Given the description of an element on the screen output the (x, y) to click on. 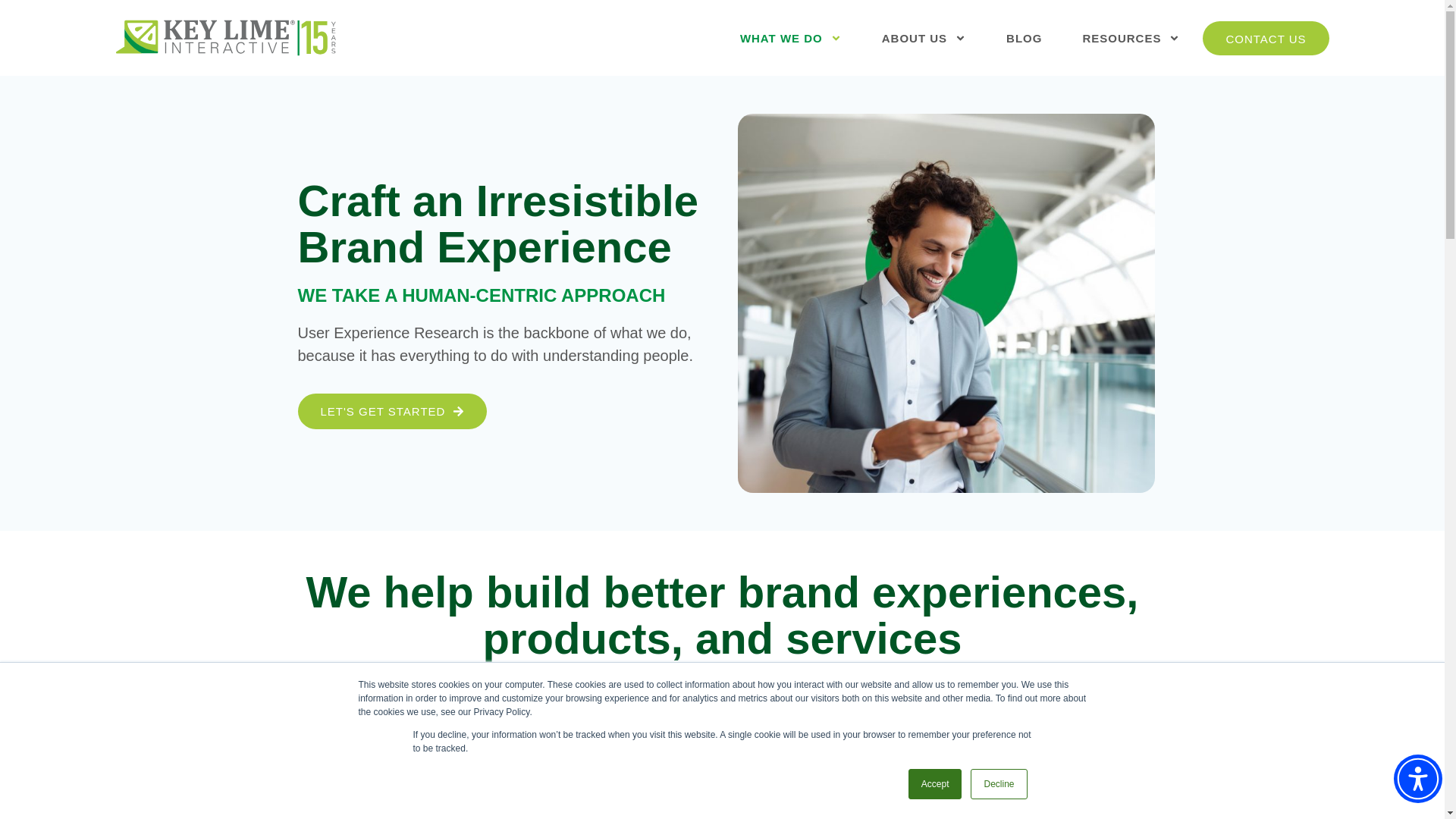
Decline (998, 784)
RESOURCES (1130, 37)
Accept (935, 784)
ABOUT US (924, 37)
CONTACT US (1264, 38)
Accessibility Menu (1417, 778)
WHAT WE DO (790, 37)
